Given the description of an element on the screen output the (x, y) to click on. 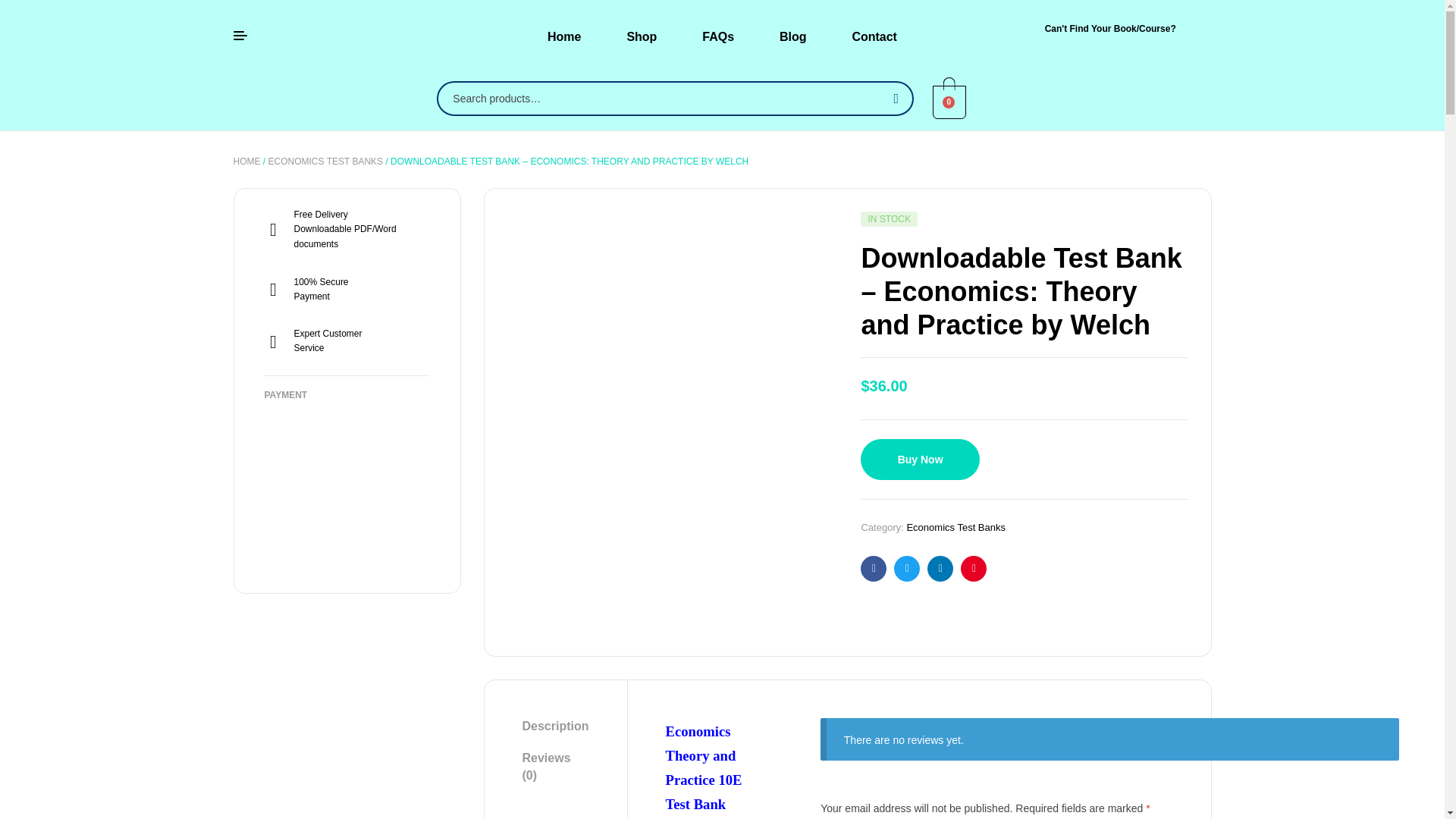
Shop (641, 36)
Share on Pinterest (973, 568)
FAQs (718, 36)
Cart (948, 101)
0 (949, 100)
Contact (873, 36)
Share on Twitter (906, 568)
Search (893, 98)
Share on LinkedIn (940, 568)
Share on facebook (873, 568)
